Given the description of an element on the screen output the (x, y) to click on. 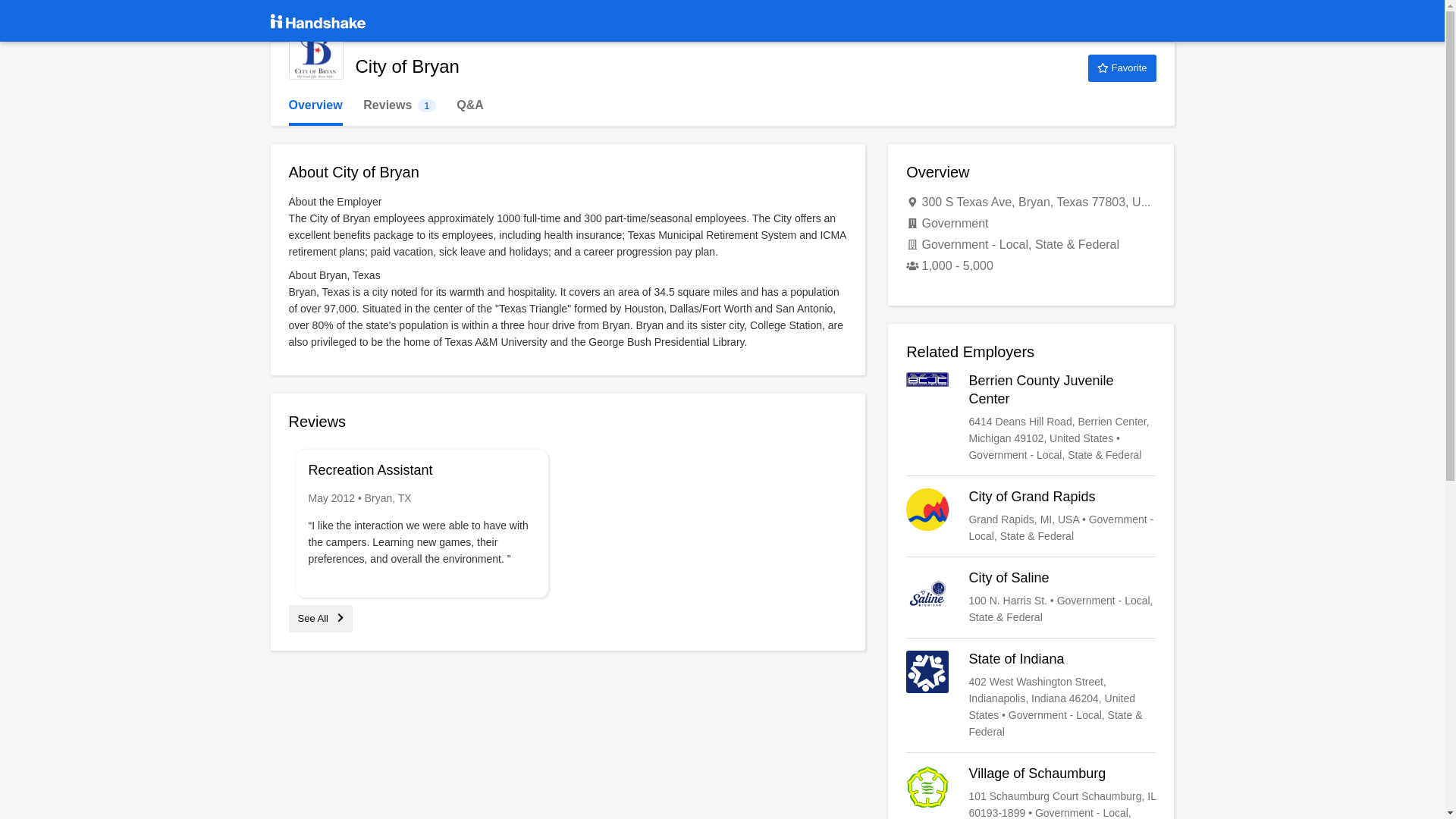
City of Saline (1030, 597)
Overview (315, 105)
See All (320, 618)
City of Grand Rapids (1030, 516)
Village of Schaumburg (398, 105)
Favorite (1030, 791)
State of Indiana (1121, 67)
City of Bryan (1030, 695)
Berrien County Juvenile Center (315, 52)
